Given the description of an element on the screen output the (x, y) to click on. 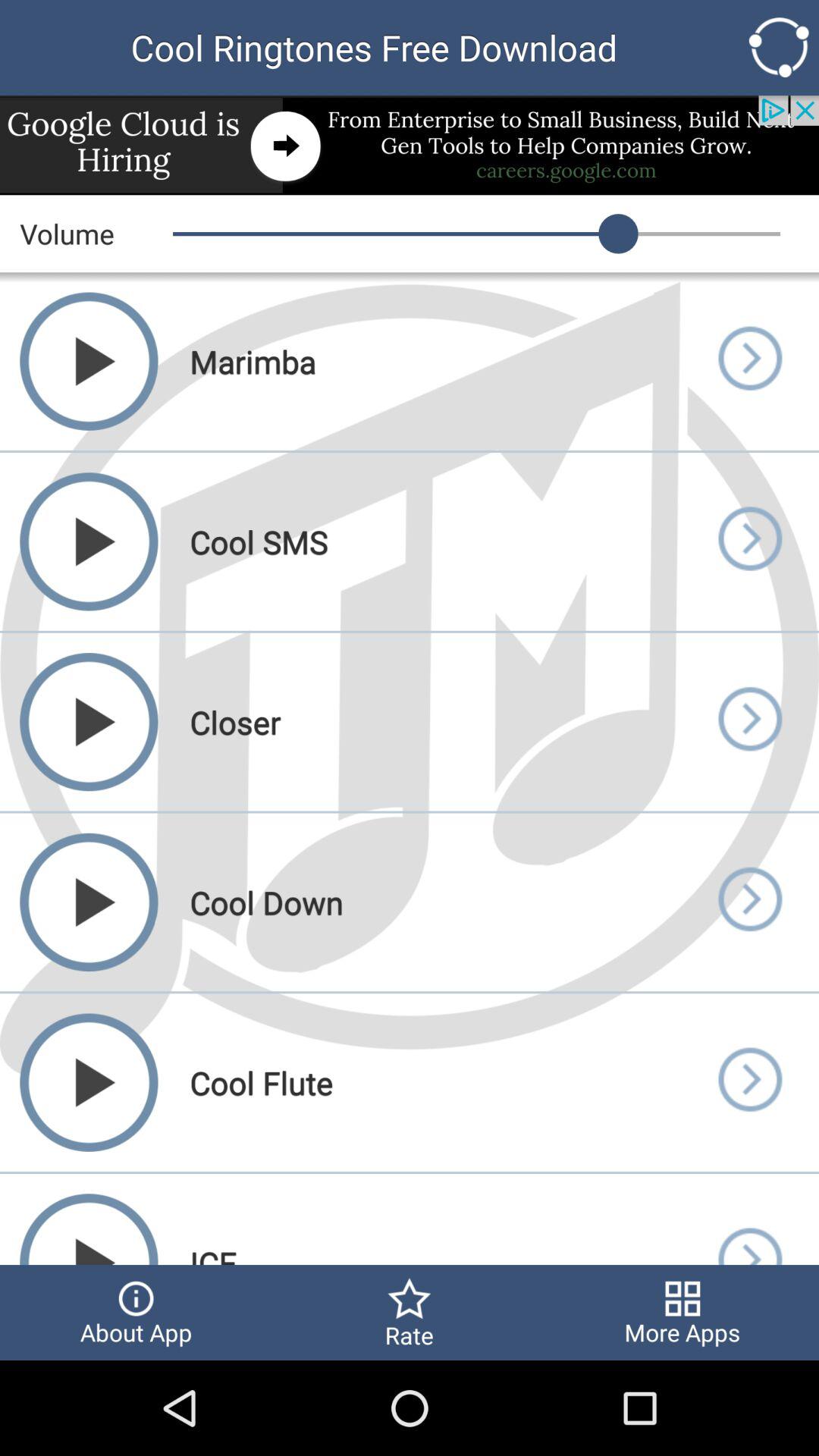
click on more apps (682, 1313)
go to the top right icon (779, 47)
click on icon which is above more apps (749, 1219)
click on the right arrow next to cool down (749, 902)
